Given the description of an element on the screen output the (x, y) to click on. 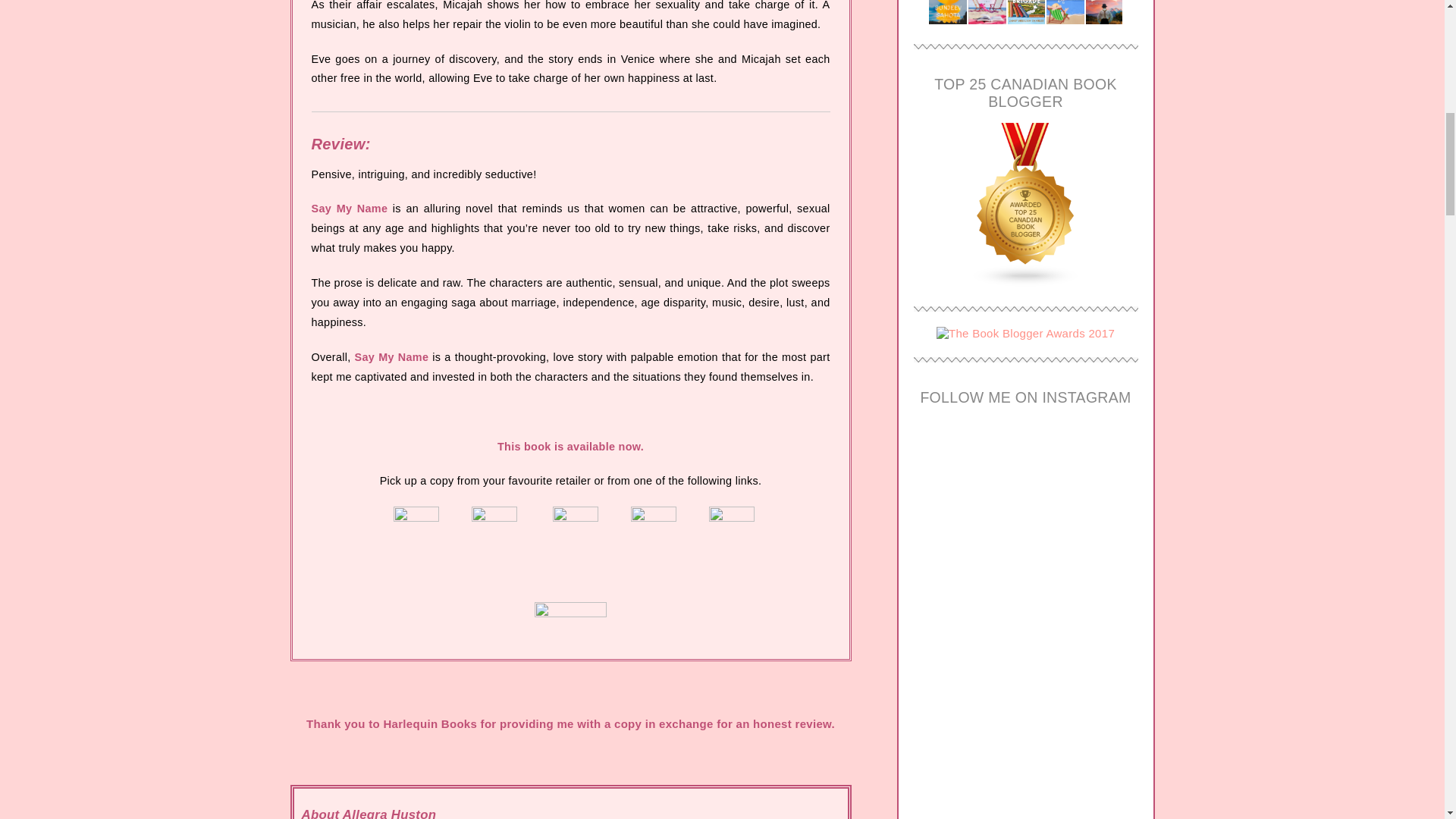
Canadian Book Bloggers (1024, 282)
goodreads-badge-add-plus-71eae69ca0307d077df66a58ec068898 (570, 612)
